Given the description of an element on the screen output the (x, y) to click on. 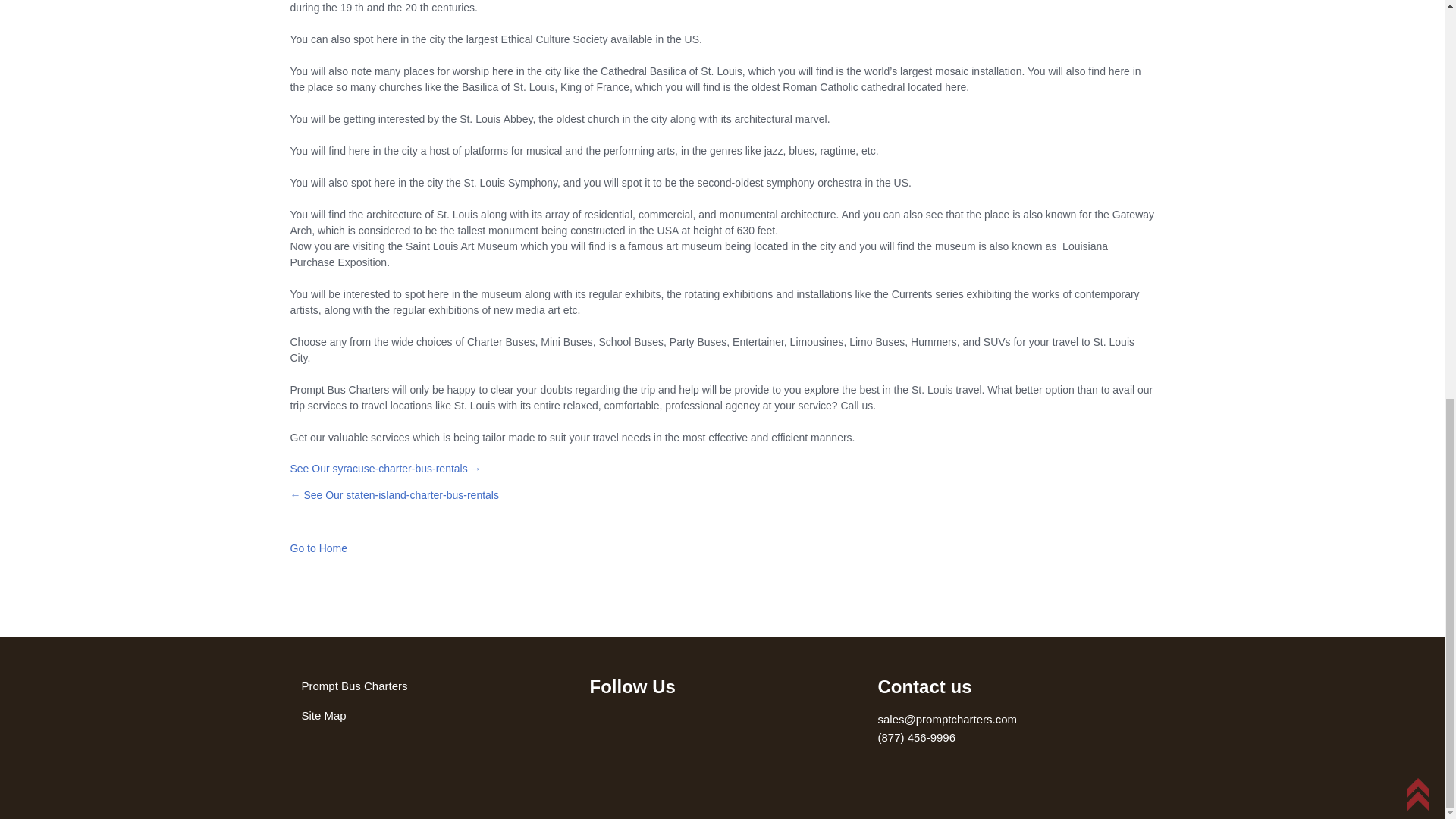
Go to Home (317, 548)
Site Map (323, 715)
Prompt Bus Charters (354, 685)
